Given the description of an element on the screen output the (x, y) to click on. 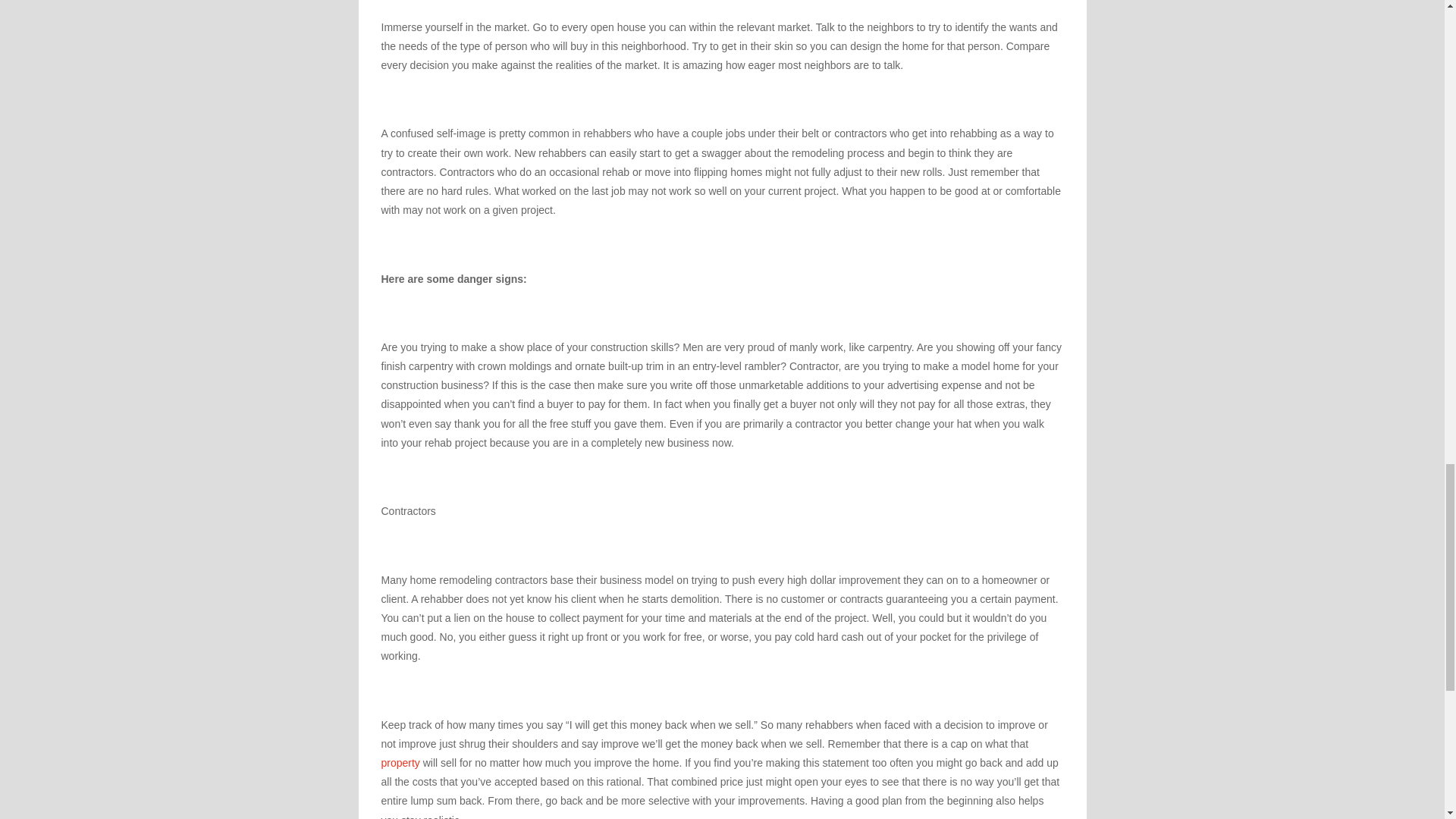
property (401, 762)
